Given the description of an element on the screen output the (x, y) to click on. 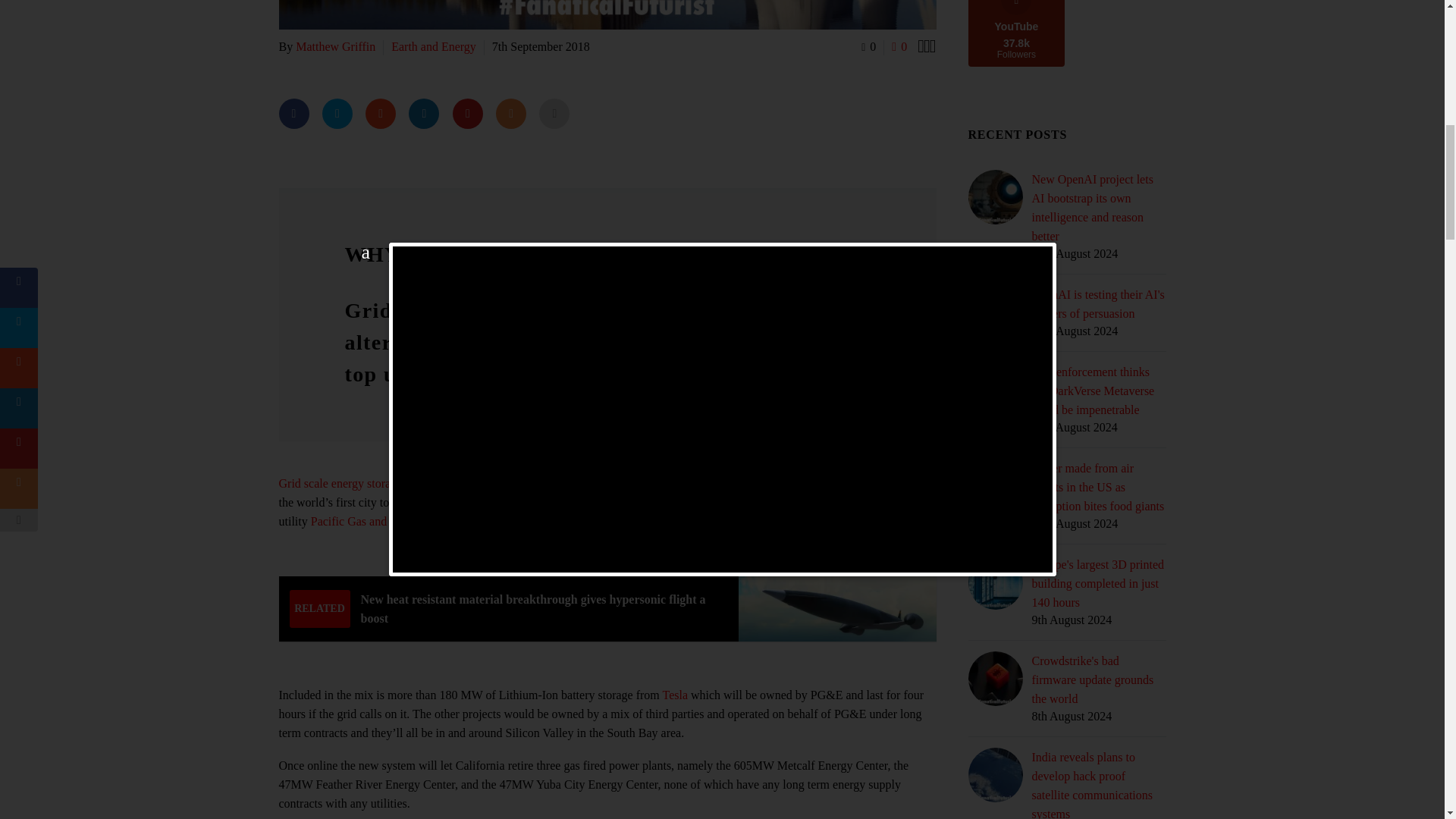
Matthew Griffin (335, 46)
Grid scale energy storage (341, 482)
Tesla (674, 694)
0 (868, 46)
Earth and Energy (433, 46)
View all posts in Earth and Energy (433, 46)
Pacific Gas and Electric (369, 521)
